Given the description of an element on the screen output the (x, y) to click on. 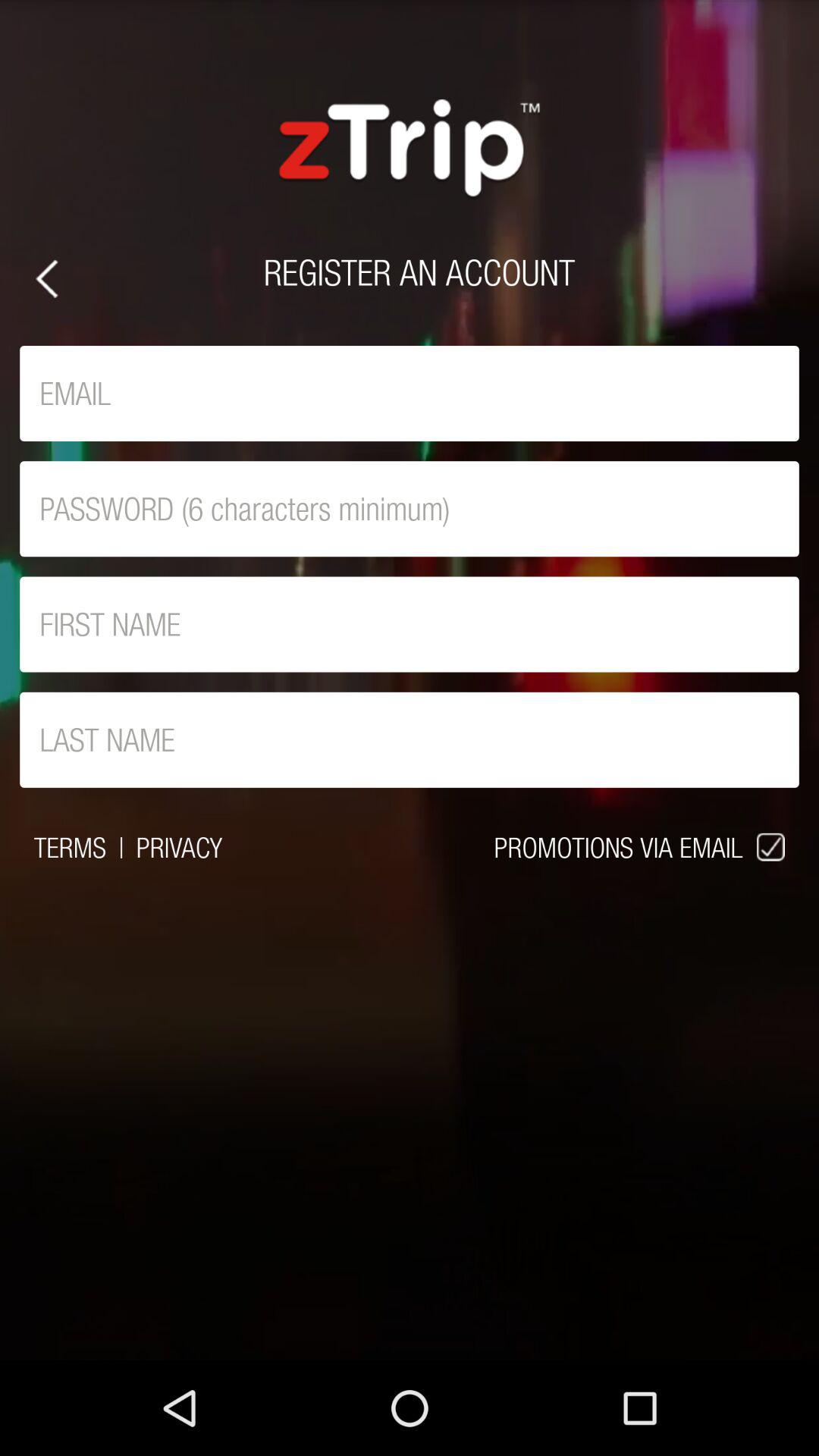
turn on the icon to the left of the promotions via email icon (179, 847)
